Given the description of an element on the screen output the (x, y) to click on. 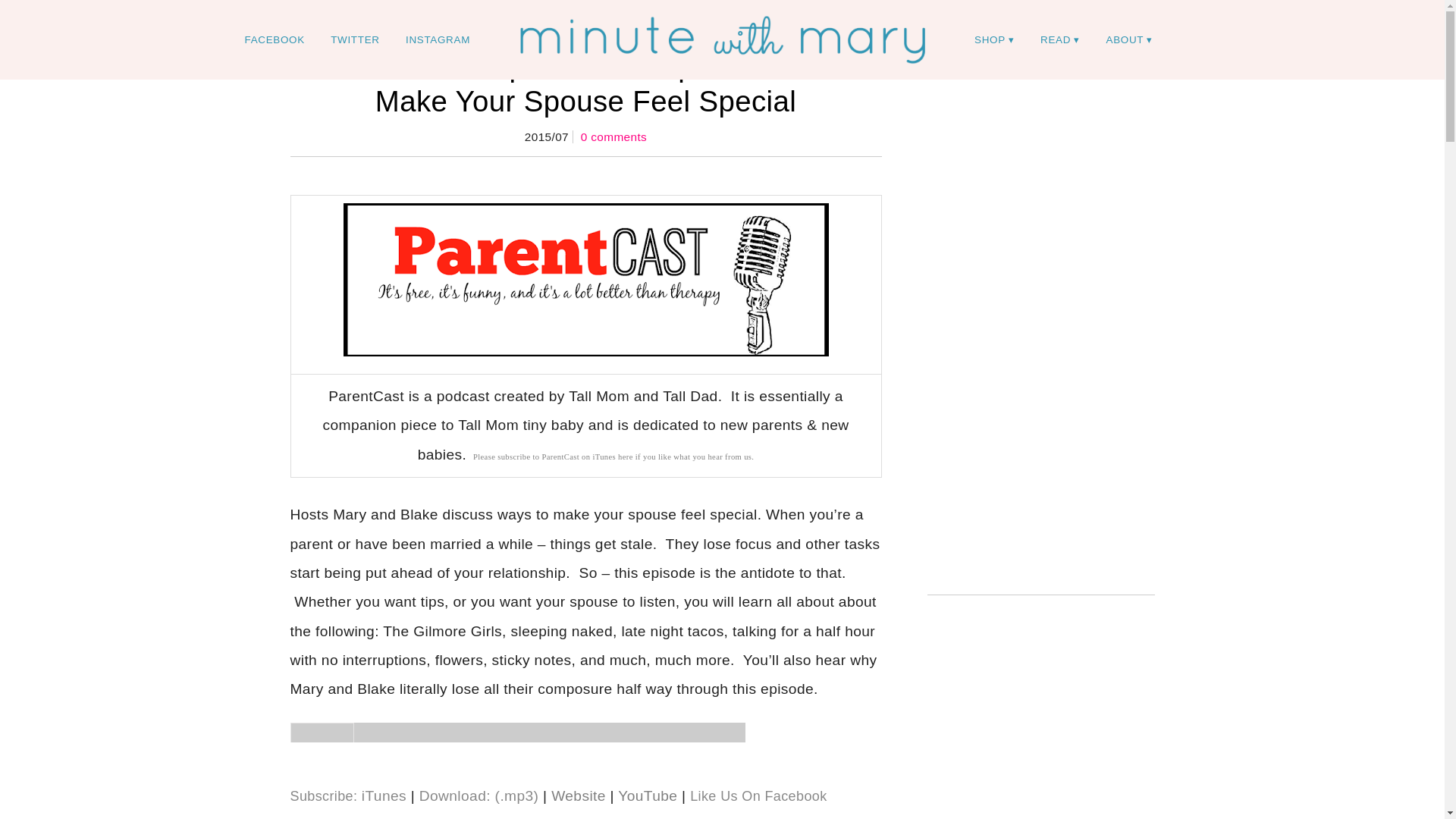
FACEBOOK (273, 39)
ABOUT (1129, 39)
TWITTER (354, 39)
Advertisement (1053, 439)
READ (1059, 39)
Minute With Mary (721, 39)
INSTAGRAM (437, 39)
facebook (273, 39)
SHOP (994, 39)
instagram (437, 39)
